Given the description of an element on the screen output the (x, y) to click on. 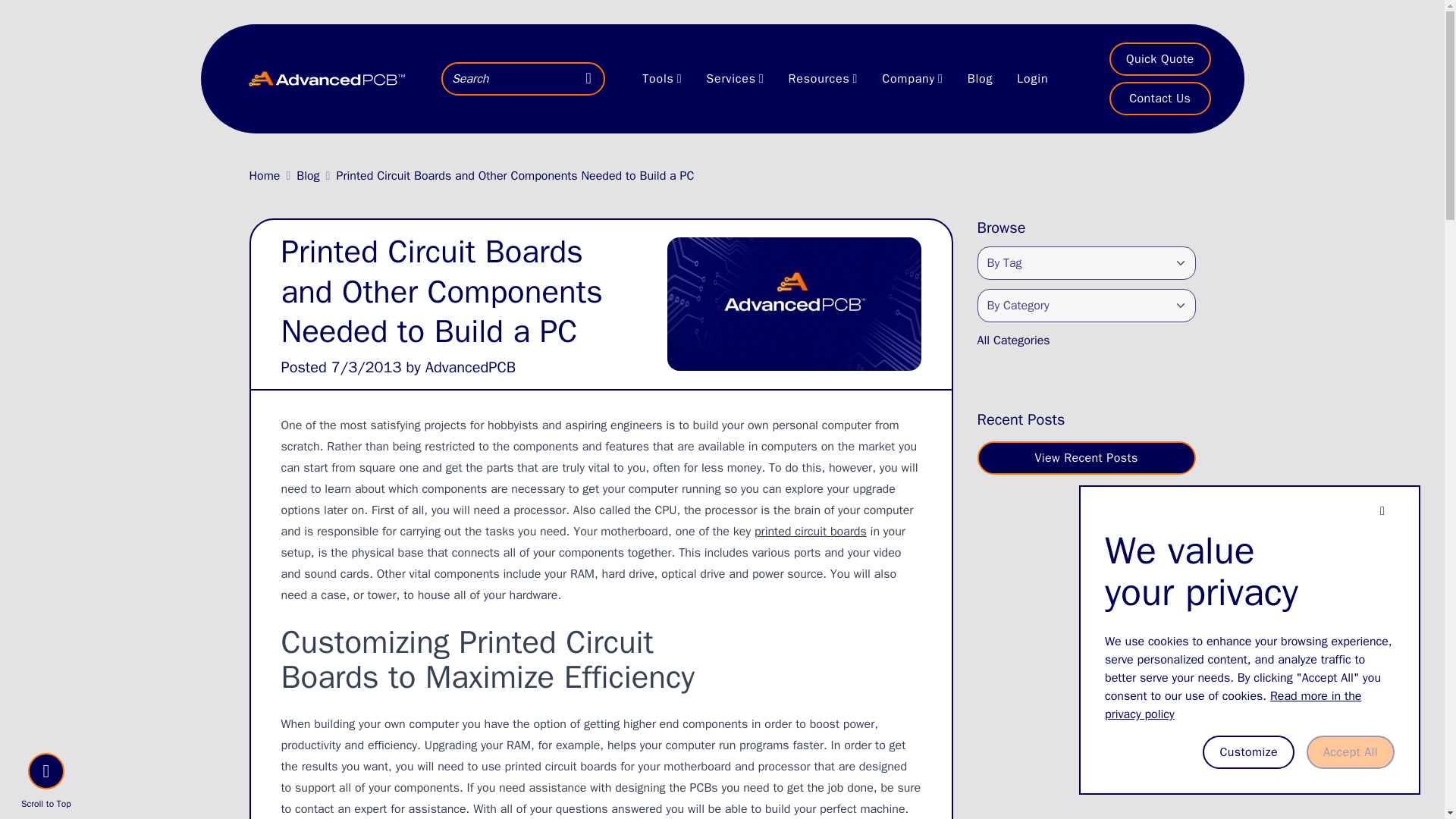
AdvancedPCB (470, 366)
View Tools (657, 78)
Services (735, 78)
Scroll to Top (45, 782)
Blog (307, 176)
Tools (662, 78)
Login (1031, 78)
Quick Quote (1159, 59)
Company (912, 78)
Resources (823, 78)
